Given the description of an element on the screen output the (x, y) to click on. 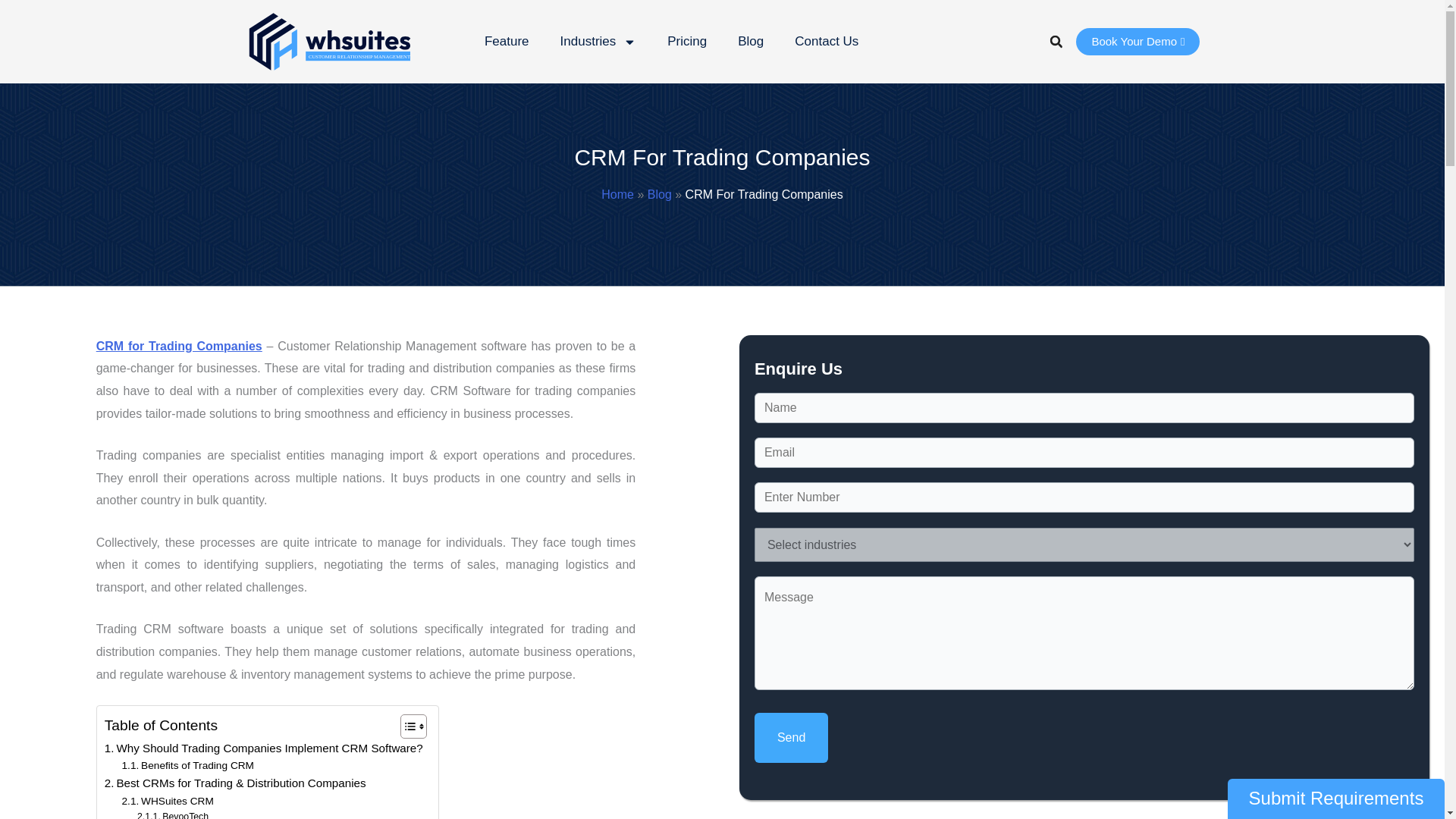
Industries (598, 41)
Book Your Demo (1137, 41)
Feature (506, 41)
Home (617, 194)
Blog (750, 41)
Why Should Trading Companies Implement CRM Software? (263, 748)
BevooTech (172, 814)
Contact Us (825, 41)
WHSuites CRM (168, 801)
Send (791, 737)
Pricing (687, 41)
Benefits of Trading CRM (188, 765)
